Given the description of an element on the screen output the (x, y) to click on. 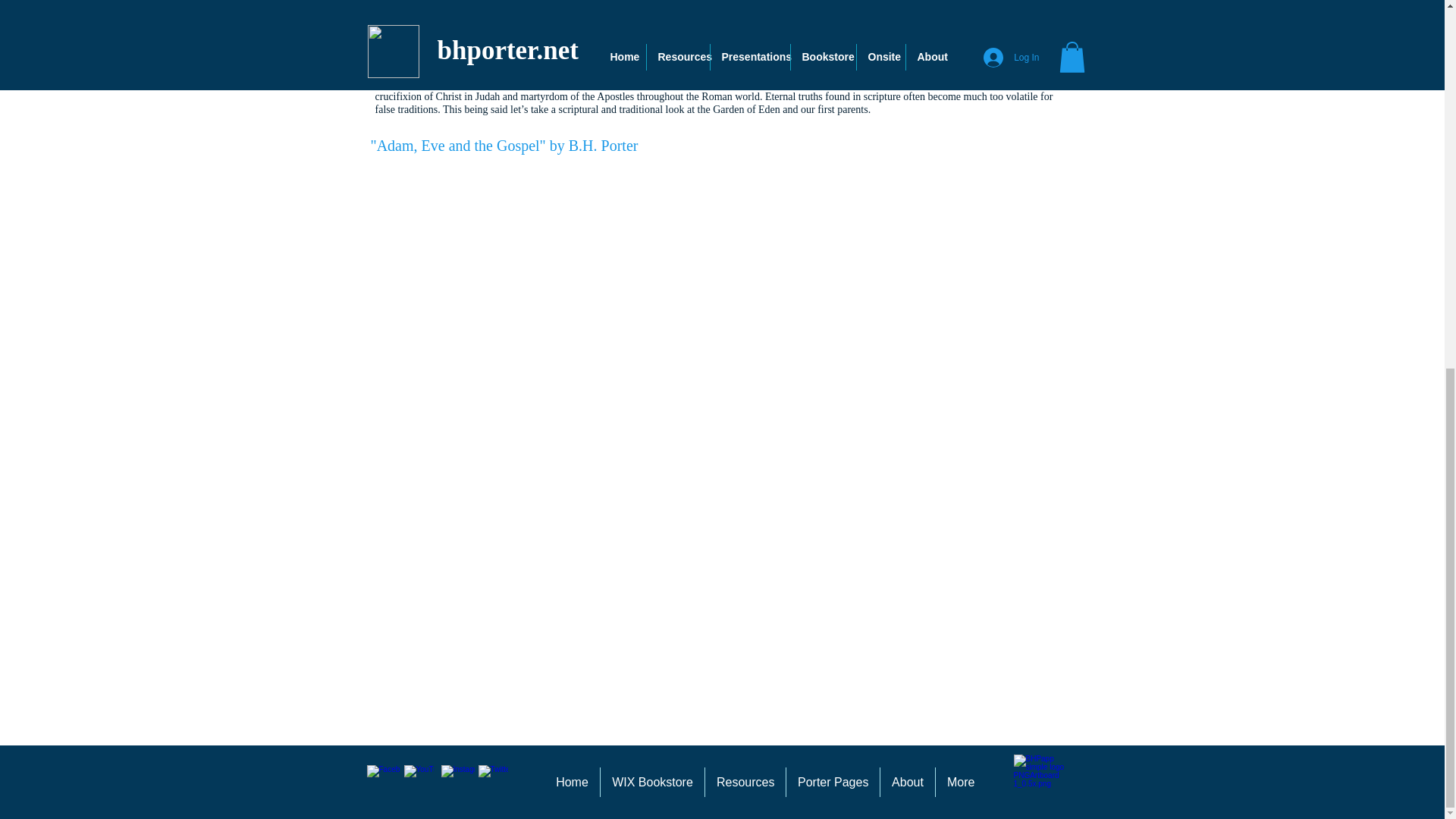
WIX Bookstore (651, 781)
Resources (745, 781)
About (907, 781)
Home (571, 781)
Porter Pages (832, 781)
